Given the description of an element on the screen output the (x, y) to click on. 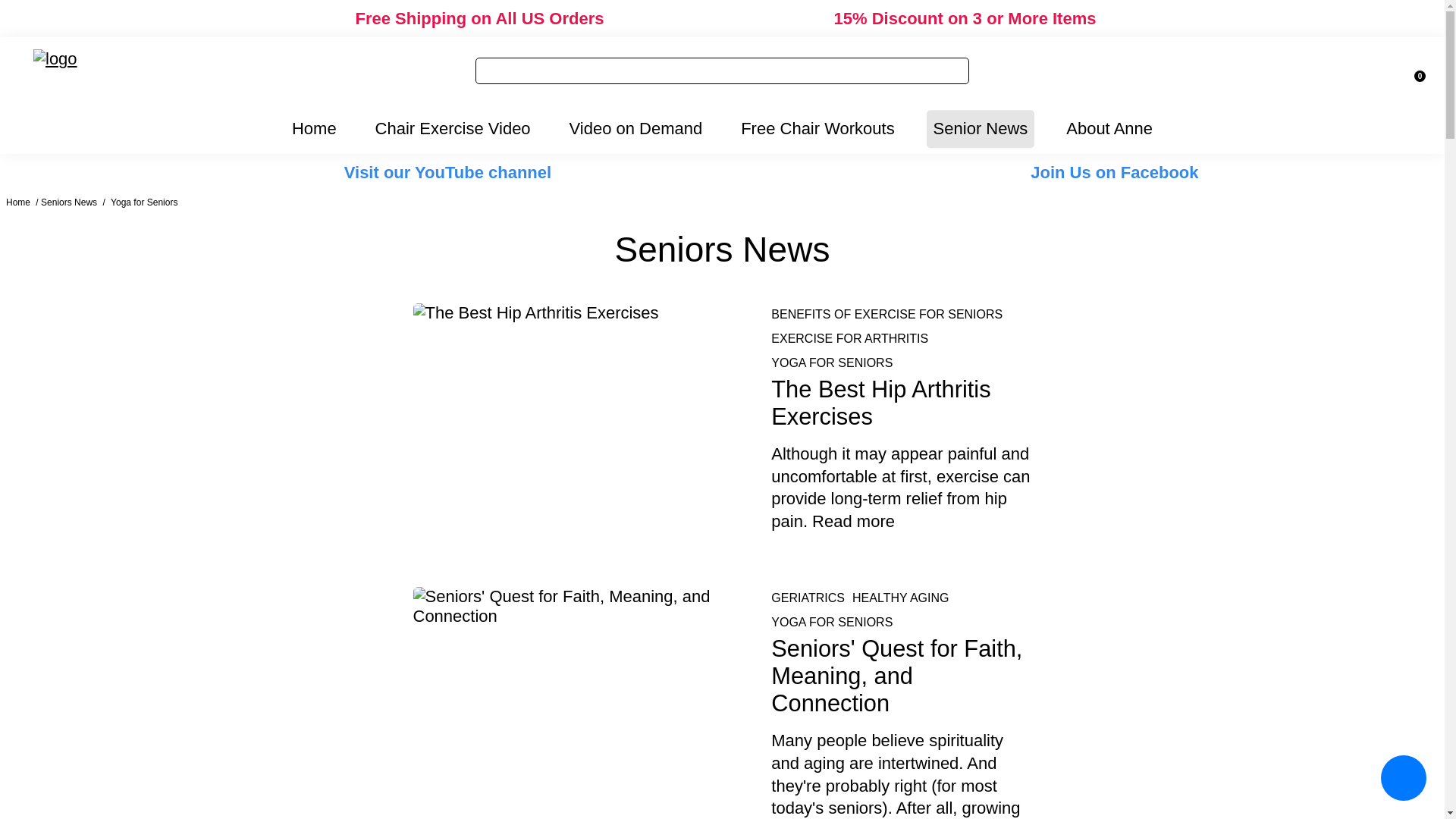
Join Us on Facebook (1114, 172)
Visit our YouTube channel (447, 172)
Seniors News (68, 202)
Video on Demand (635, 128)
The Best Hip Arthritis Exercises (880, 402)
Seniors' Quest for Faith, Meaning, and Connection (896, 675)
Home (314, 128)
Free Chair Workouts (817, 128)
Home (17, 202)
Home (17, 202)
